Given the description of an element on the screen output the (x, y) to click on. 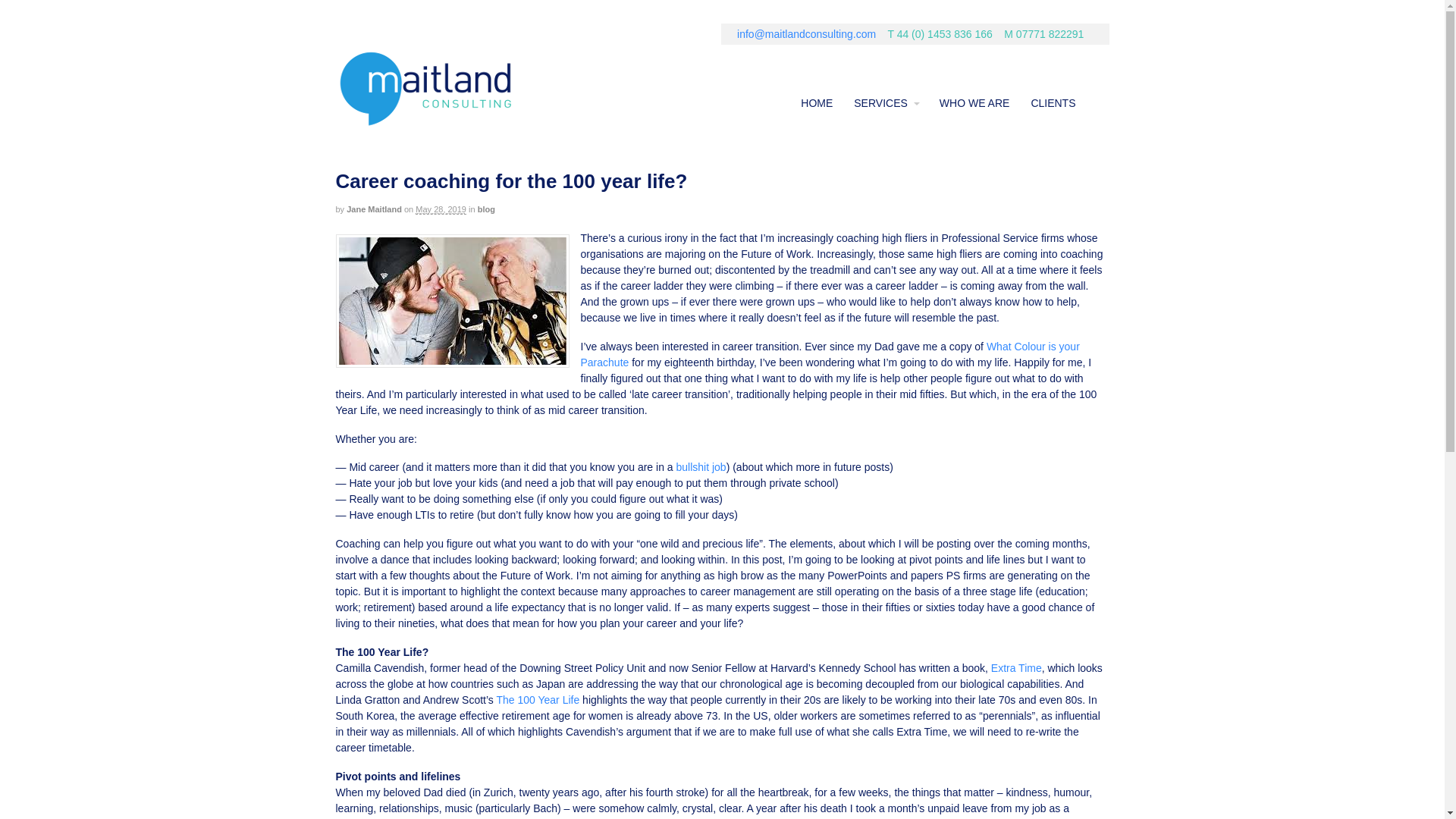
bullshit job (700, 467)
blog (486, 208)
CLIENTS (1053, 102)
HOME (816, 102)
Extra Time (1016, 667)
WHO WE ARE (974, 102)
What Colour is your Parachute (830, 354)
Jane Maitland (373, 208)
Unknown (451, 300)
Posts by jane maitland (373, 208)
